Given the description of an element on the screen output the (x, y) to click on. 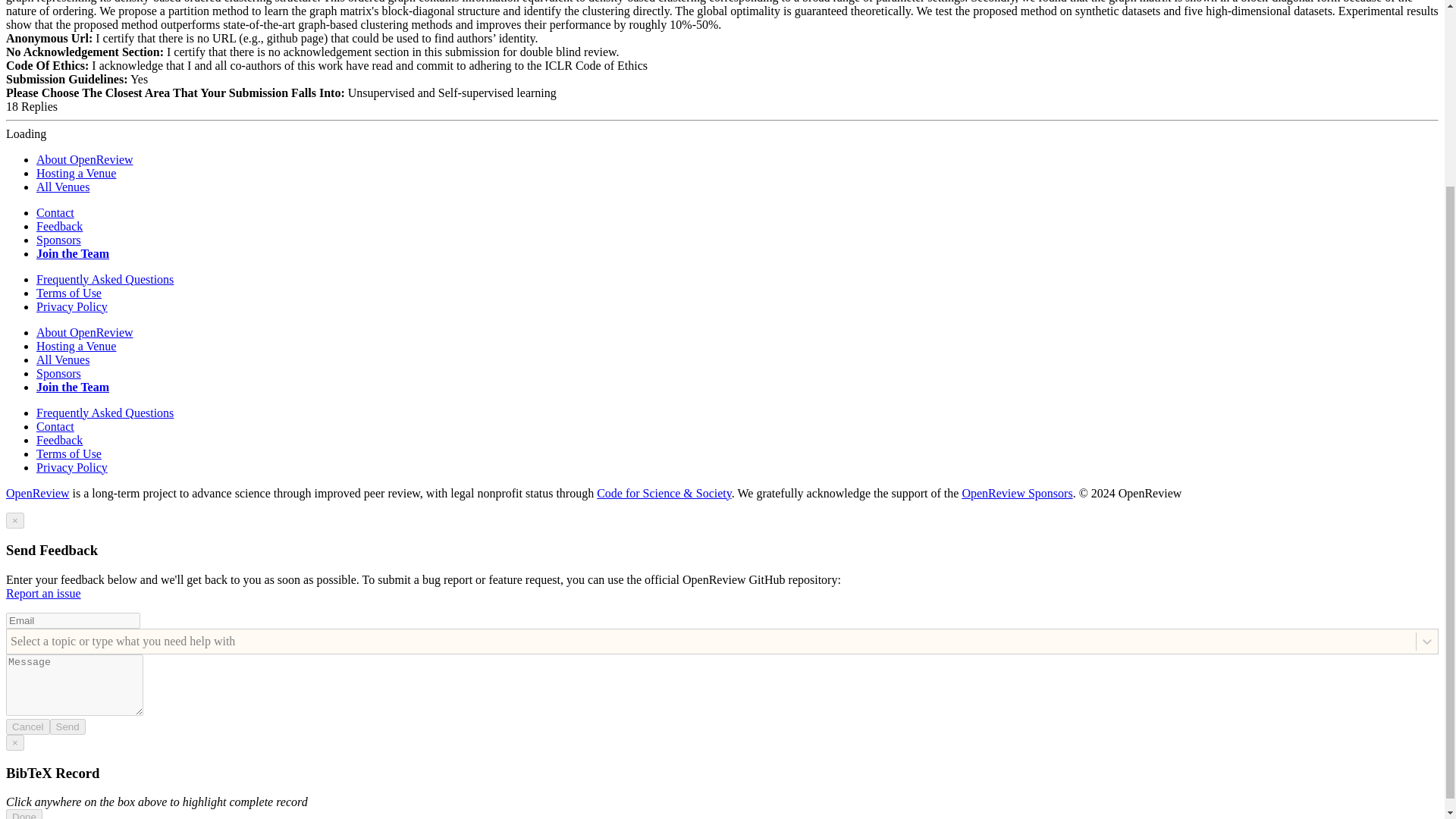
All Venues (62, 186)
Privacy Policy (71, 306)
Send (67, 726)
All Venues (62, 359)
Frequently Asked Questions (104, 278)
Terms of Use (68, 292)
Privacy Policy (71, 467)
Hosting a Venue (76, 173)
OpenReview Sponsors (1015, 492)
Sponsors (58, 239)
Terms of Use (68, 453)
Report an issue (43, 593)
Contact (55, 212)
Cancel (27, 726)
About OpenReview (84, 159)
